Given the description of an element on the screen output the (x, y) to click on. 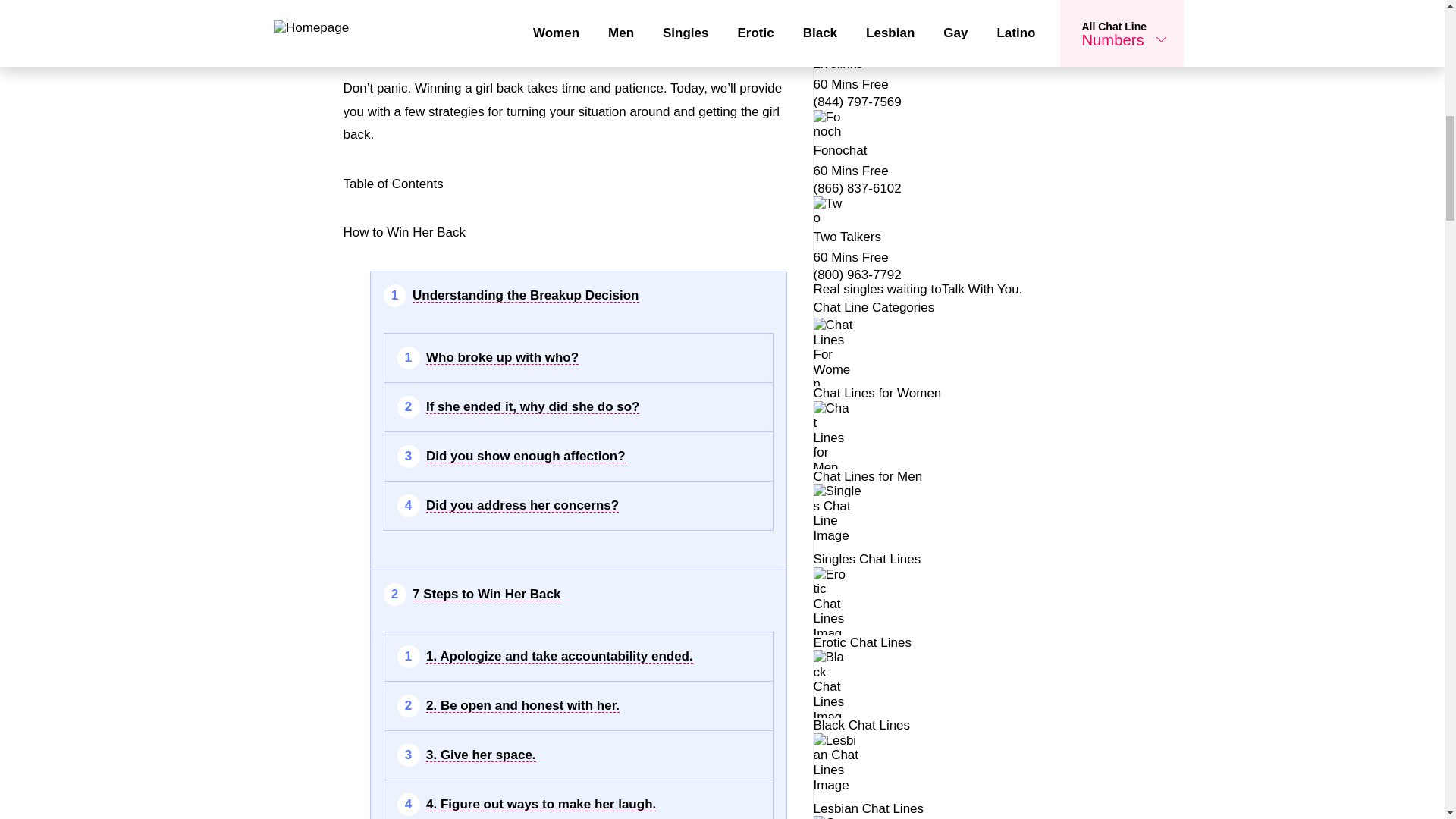
2. Be open and honest with her. (523, 705)
Understanding the Breakup Decision (525, 295)
If she ended it, why did she do so? (532, 407)
Did you show enough affection? (526, 456)
7 Steps to Win Her Back (486, 594)
3. Give her space. (480, 755)
Who broke up with who? (502, 357)
1. Apologize and take accountability ended. (559, 656)
4. Figure out ways to make her laugh. (541, 804)
Did you address her concerns? (522, 505)
